Given the description of an element on the screen output the (x, y) to click on. 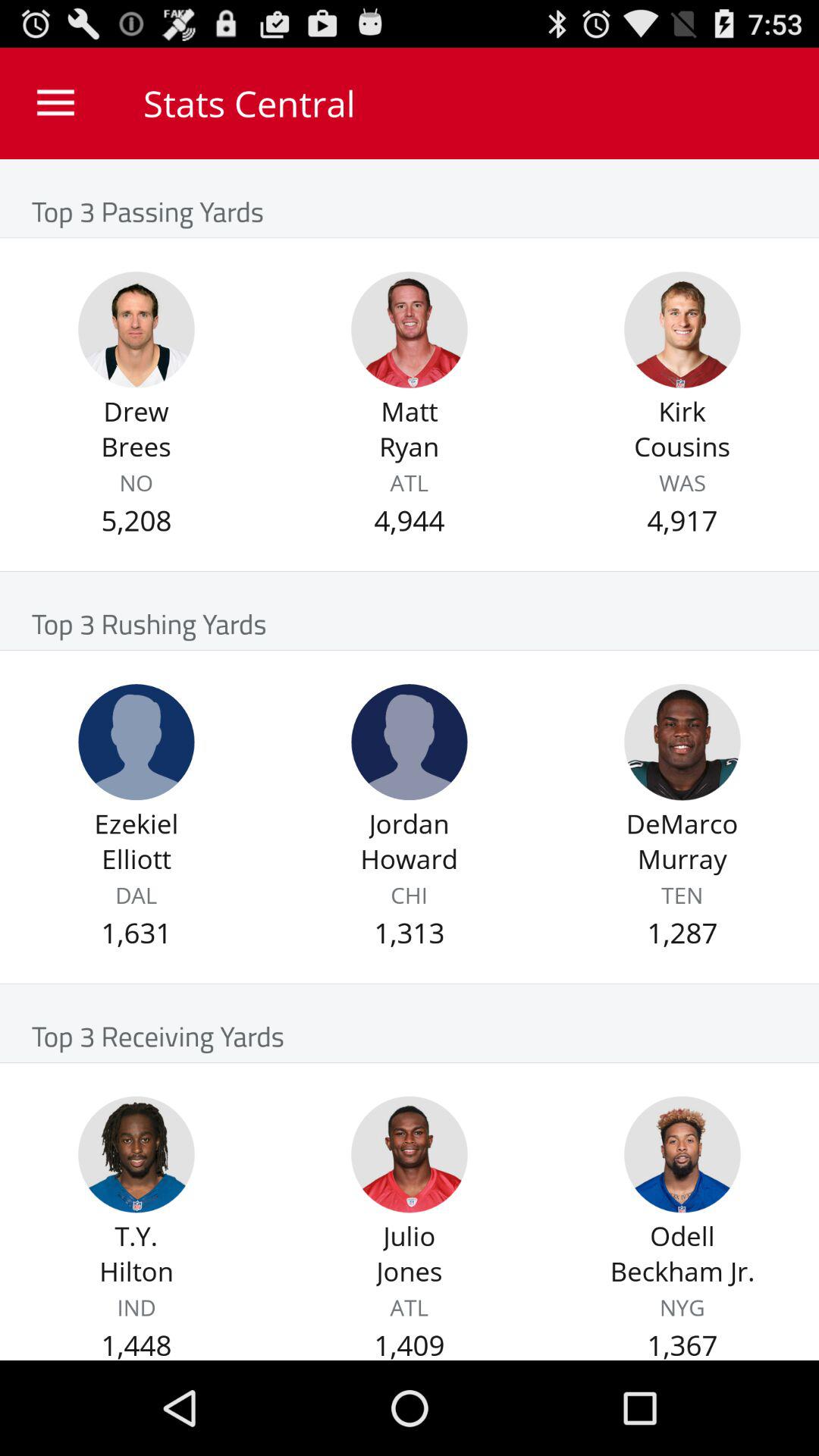
see julio jones profile (409, 1154)
